Given the description of an element on the screen output the (x, y) to click on. 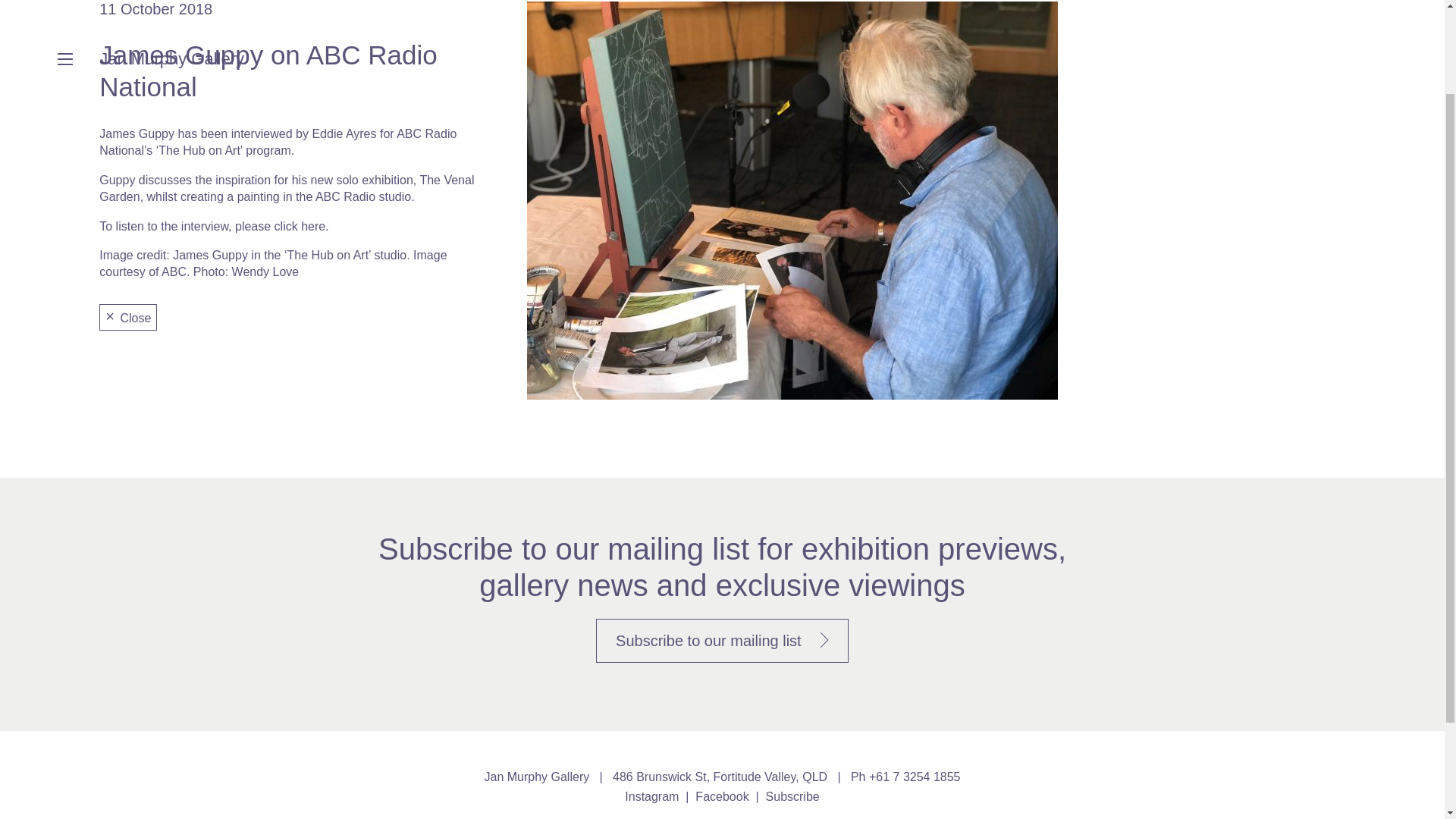
Subscribe (792, 796)
Facebook (721, 796)
Instagram (651, 796)
To listen to the interview, please click here. (214, 226)
